Given the description of an element on the screen output the (x, y) to click on. 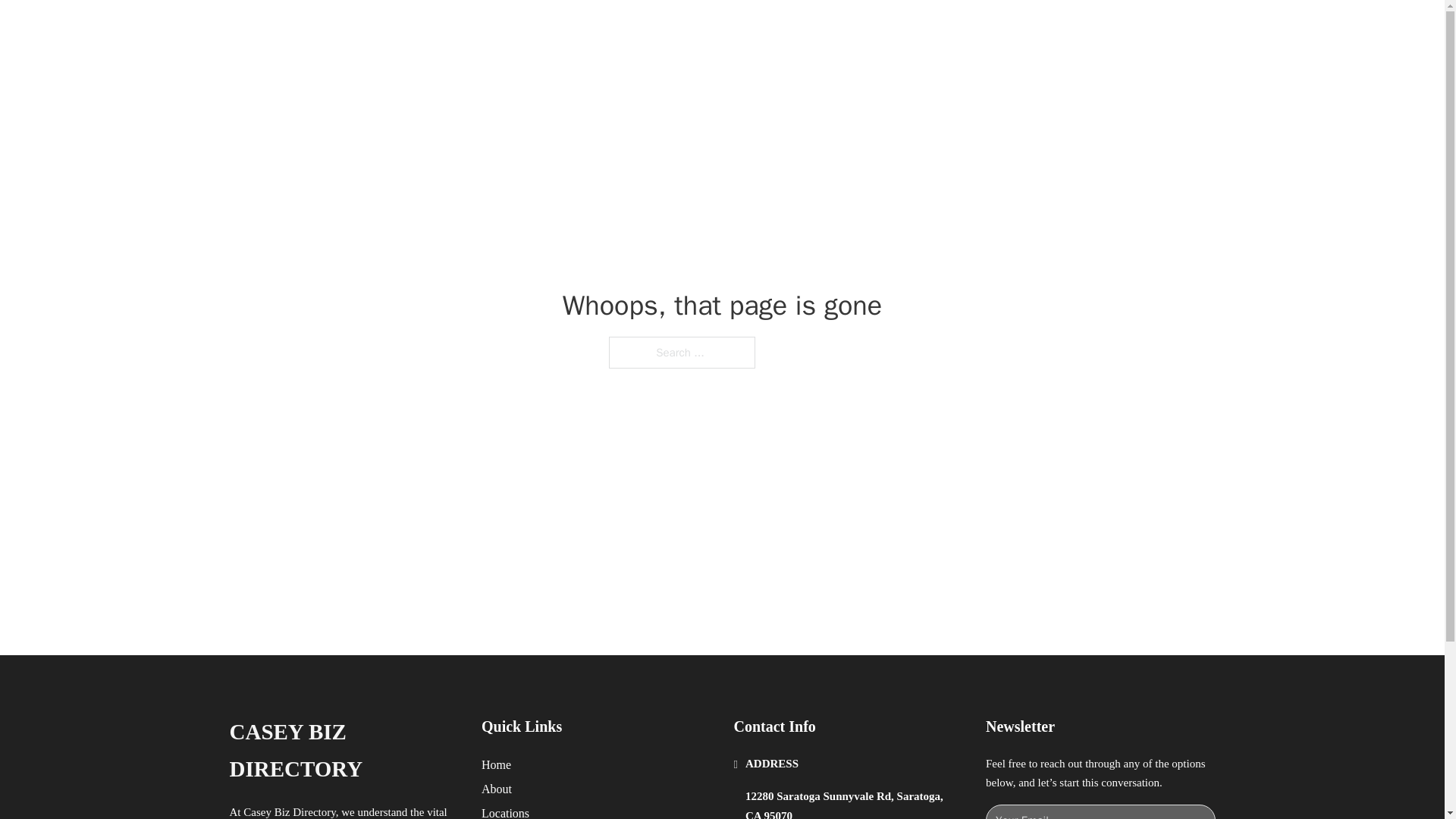
CASEY BIZ DIRECTORY (343, 750)
About (496, 788)
Locations (505, 811)
CASEY BIZ DIRECTORY (422, 28)
Home (496, 764)
